Given the description of an element on the screen output the (x, y) to click on. 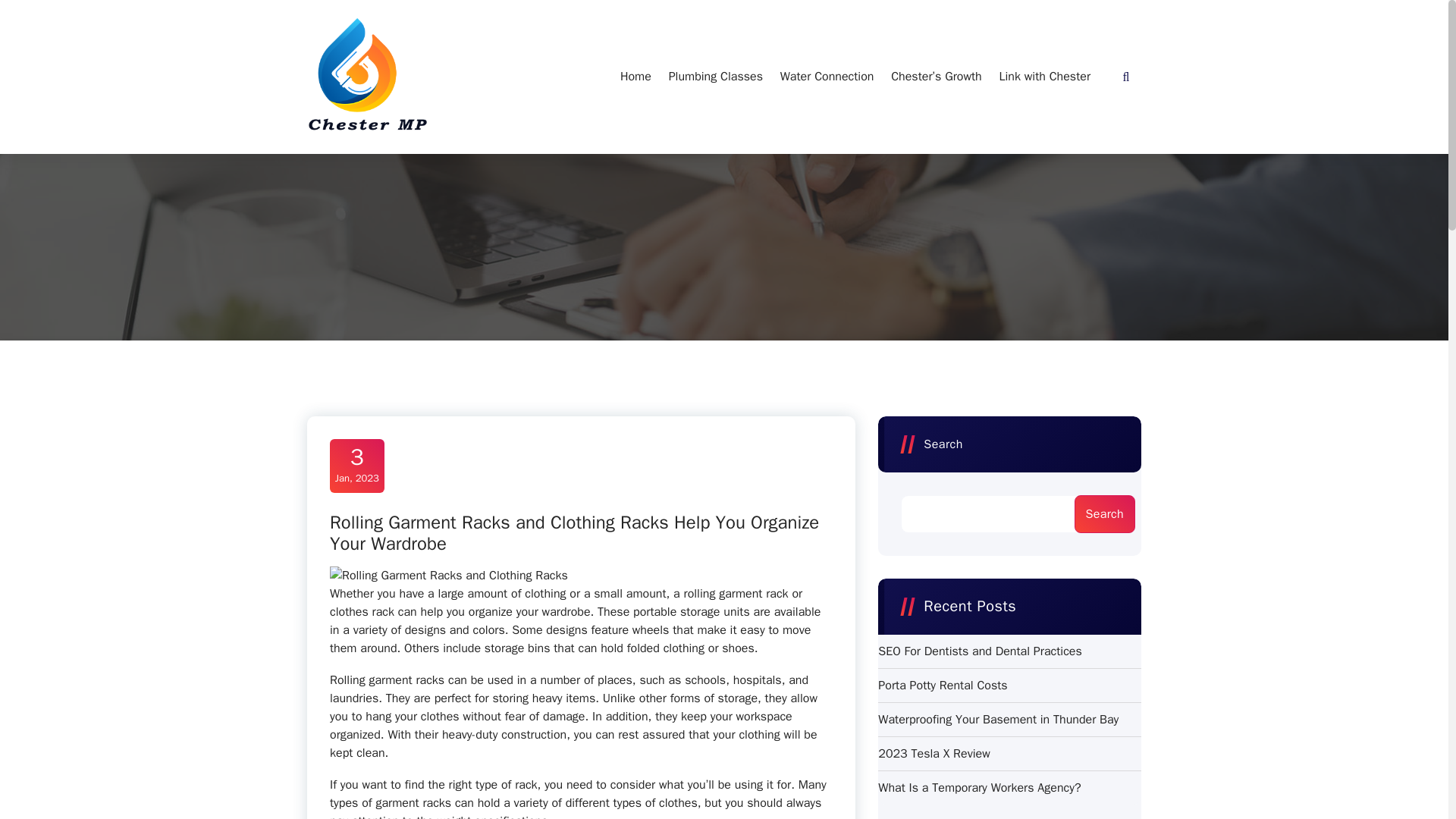
Water Connection (827, 76)
Home (636, 76)
Waterproofing Your Basement in Thunder Bay (997, 719)
Link with Chester (1044, 76)
Plumbing Classes (715, 76)
Home (356, 465)
Plumbing Classes (636, 76)
Porta Potty Rental Costs (715, 76)
2023 Tesla X Review (942, 685)
What Is a Temporary Workers Agency? (933, 753)
SEO For Dentists and Dental Practices (978, 787)
Water Connection (979, 651)
Link with Chester (827, 76)
Search (1044, 76)
